Given the description of an element on the screen output the (x, y) to click on. 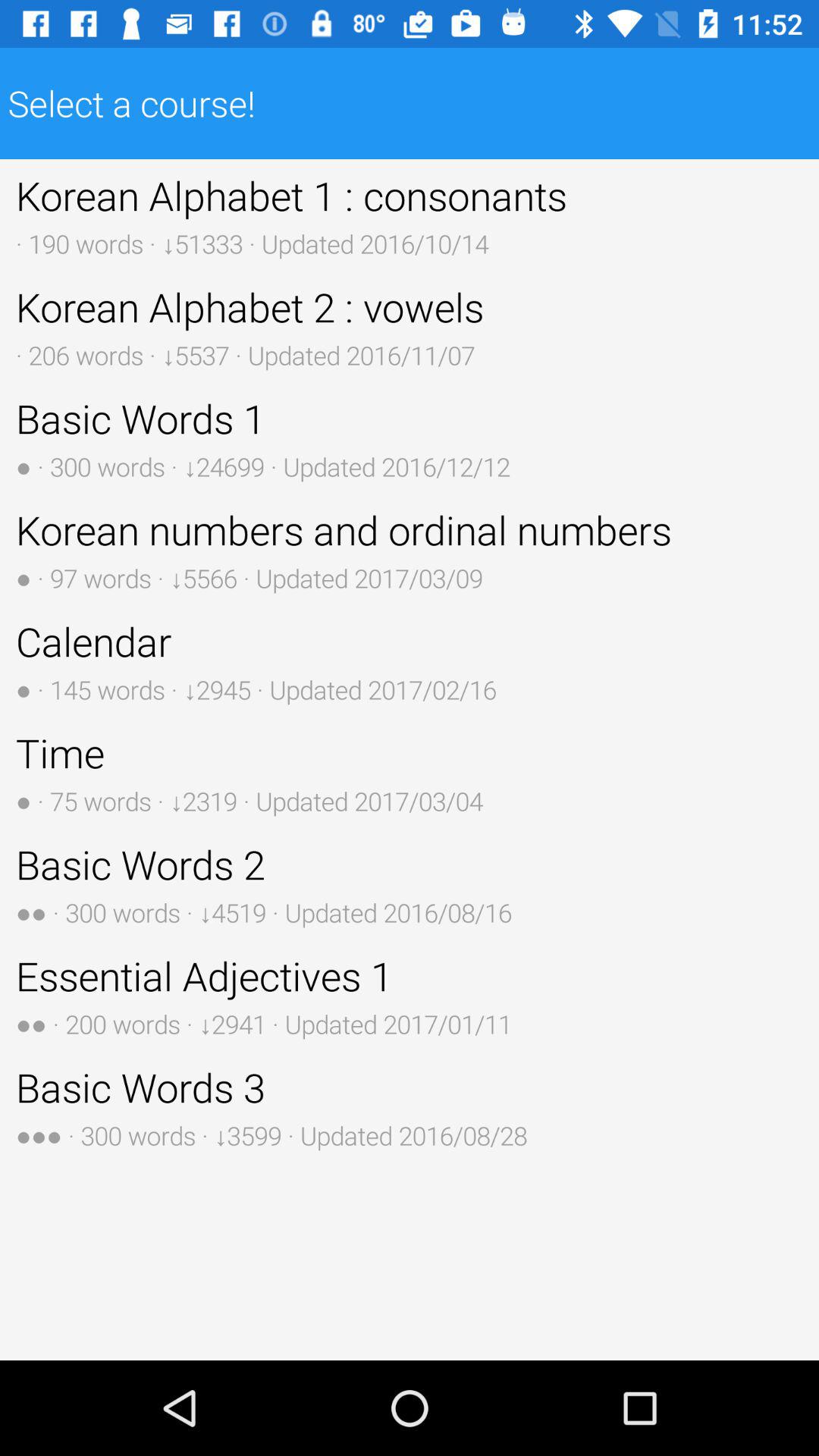
open korean numbers and button (409, 549)
